Given the description of an element on the screen output the (x, y) to click on. 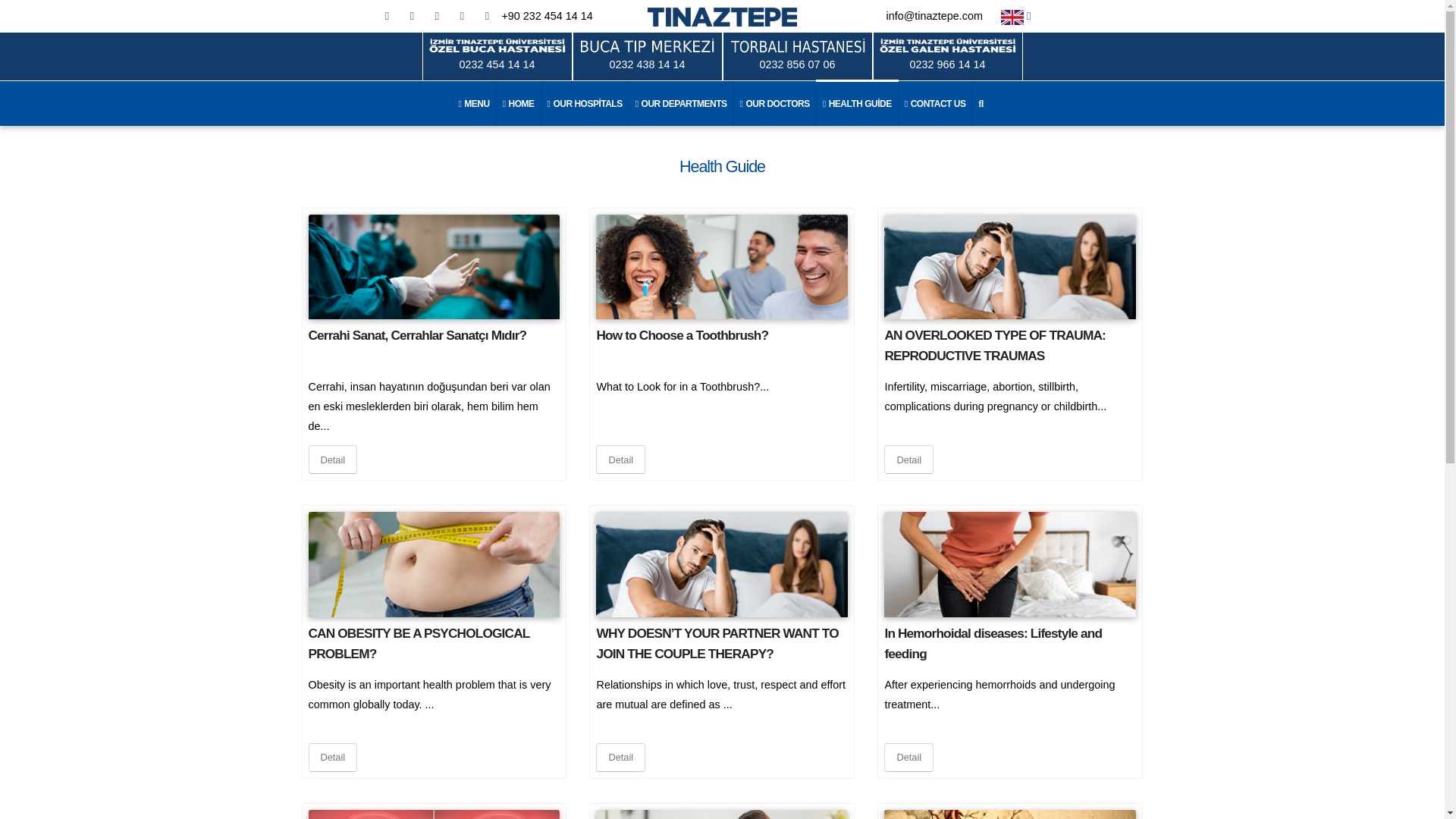
Twitter (411, 15)
Facebook (386, 15)
0232 454 14 14 (497, 56)
Youtube (461, 15)
OUR DEPARTMENTS (680, 103)
0232 966 14 14 (947, 56)
CONTACT US (935, 103)
0232 856 07 06 (797, 56)
OUR DOCTORS (774, 103)
0232 438 14 14 (647, 56)
Detail (908, 459)
Instagram (436, 15)
Detail (620, 459)
HOME (518, 103)
Detail (331, 459)
